Given the description of an element on the screen output the (x, y) to click on. 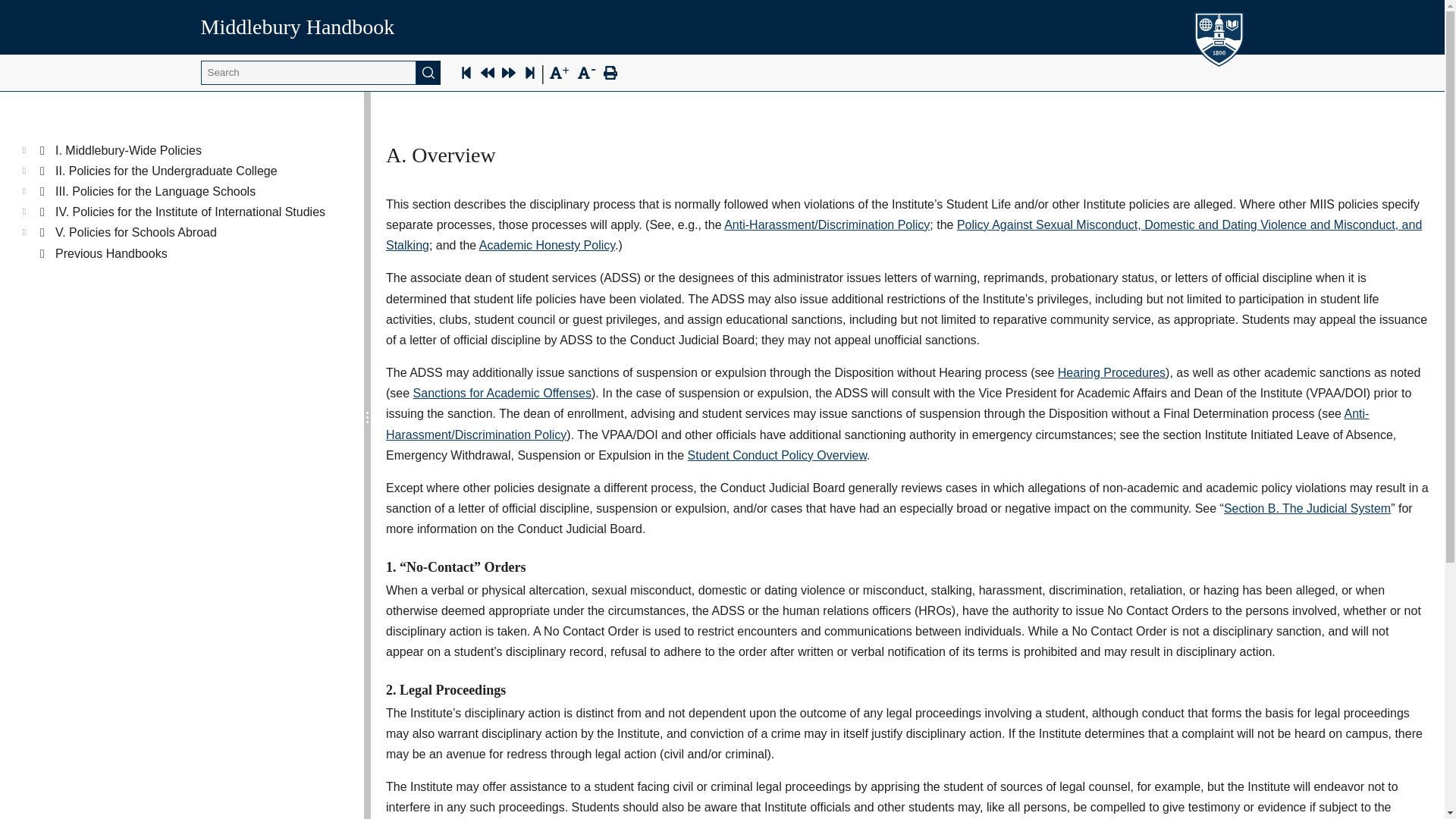
Toggle (23, 147)
Search (428, 72)
Toggle (23, 209)
Academic Honesty Policy (546, 245)
Student Conduct Policy Overview (777, 454)
Toggle (23, 188)
Section B. The Judicial System (1307, 508)
Sanctions for Academic Offenses (502, 392)
Toggle (23, 168)
